Given the description of an element on the screen output the (x, y) to click on. 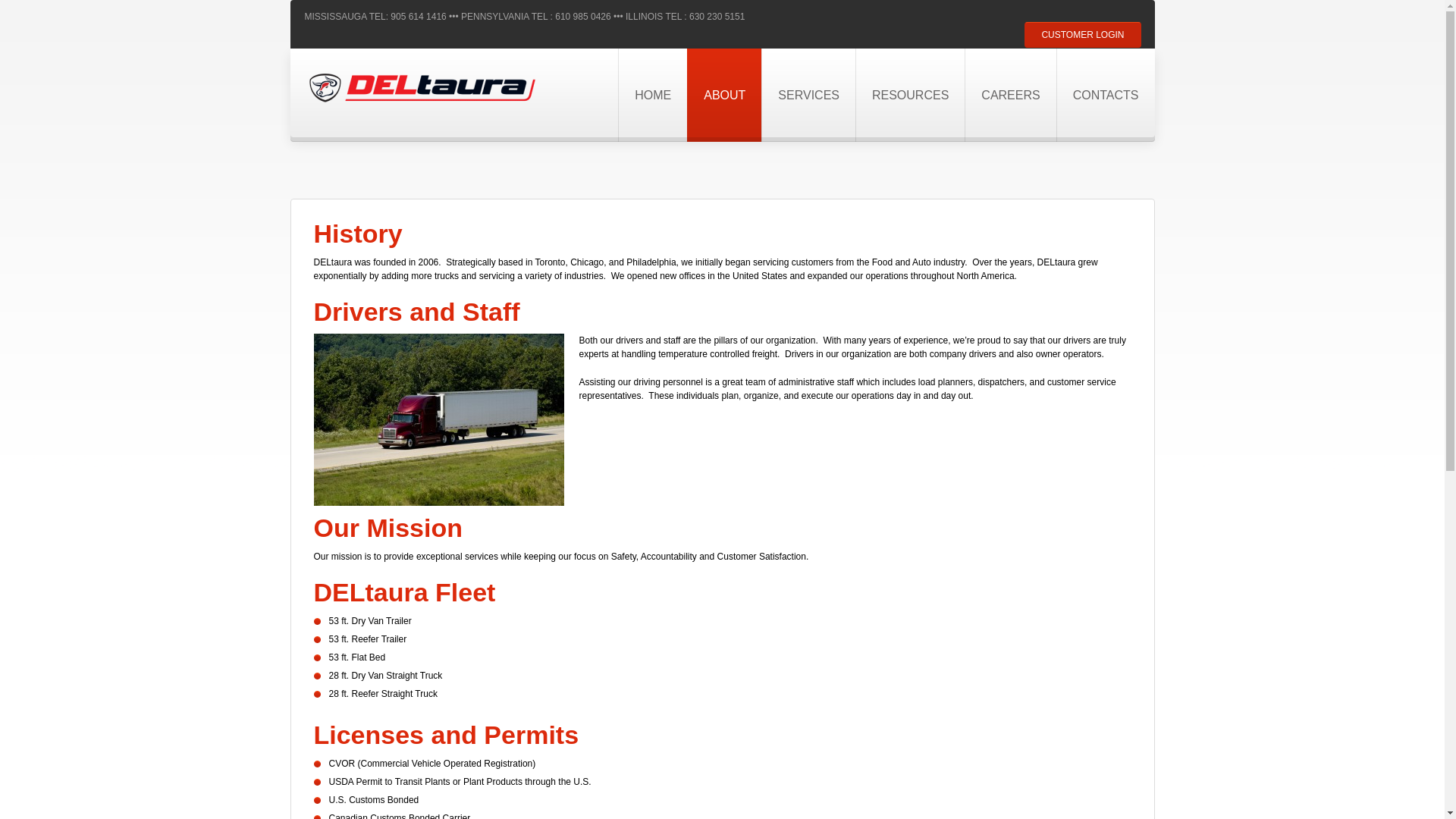
SERVICES (808, 94)
CUSTOMER LOGIN (1082, 34)
CONTACTS (1105, 94)
RESOURCES (909, 94)
CAREERS (1009, 94)
